Given the description of an element on the screen output the (x, y) to click on. 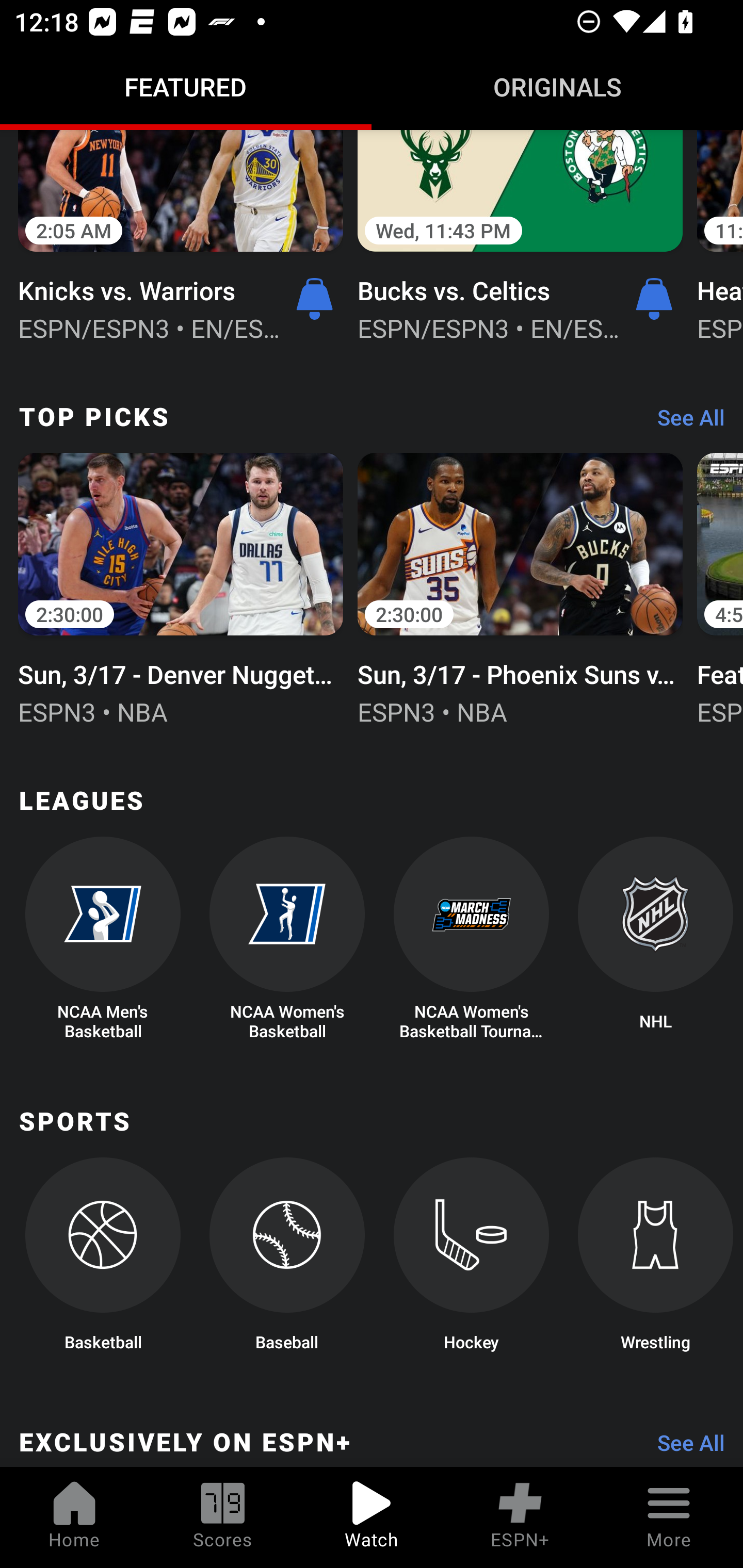
Originals ORIGINALS (557, 86)
See All (683, 422)
NCAA Men's Basketball (102, 939)
NCAA Women's Basketball (286, 939)
NCAA Women's Basketball Tournament (471, 939)
NHL (655, 939)
Basketball (102, 1259)
Baseball (286, 1259)
Hockey (471, 1259)
Wrestling (655, 1259)
See All (683, 1446)
Home (74, 1517)
Scores (222, 1517)
ESPN+ (519, 1517)
More (668, 1517)
